Given the description of an element on the screen output the (x, y) to click on. 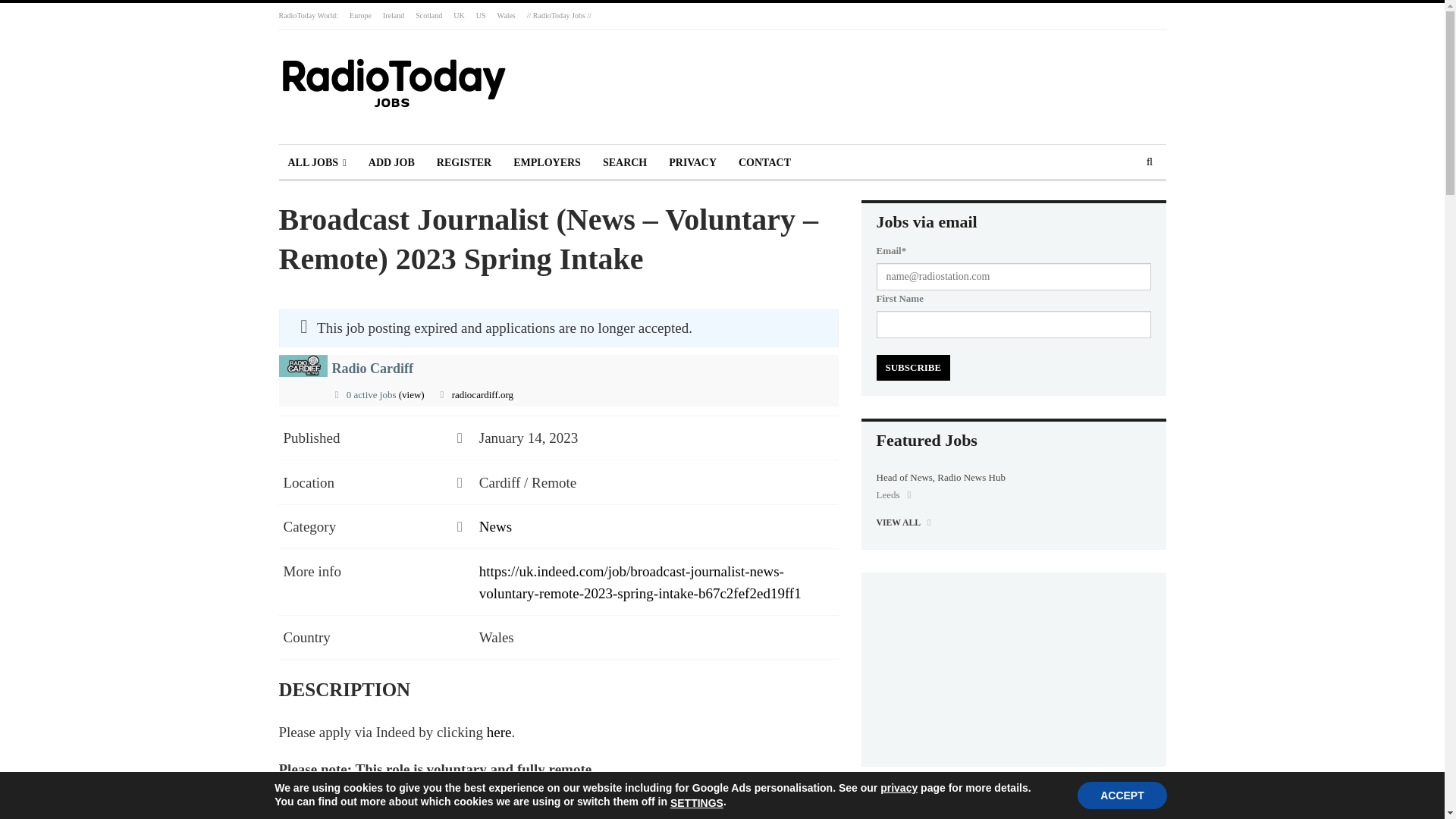
Advertisement (1013, 667)
ADD JOB (391, 162)
Europe (360, 15)
radiocardiff.org (482, 394)
SEARCH (625, 162)
Subscribe (913, 367)
Advertisement (874, 79)
EMPLOYERS (546, 162)
here (499, 731)
CONTACT (764, 162)
